Given the description of an element on the screen output the (x, y) to click on. 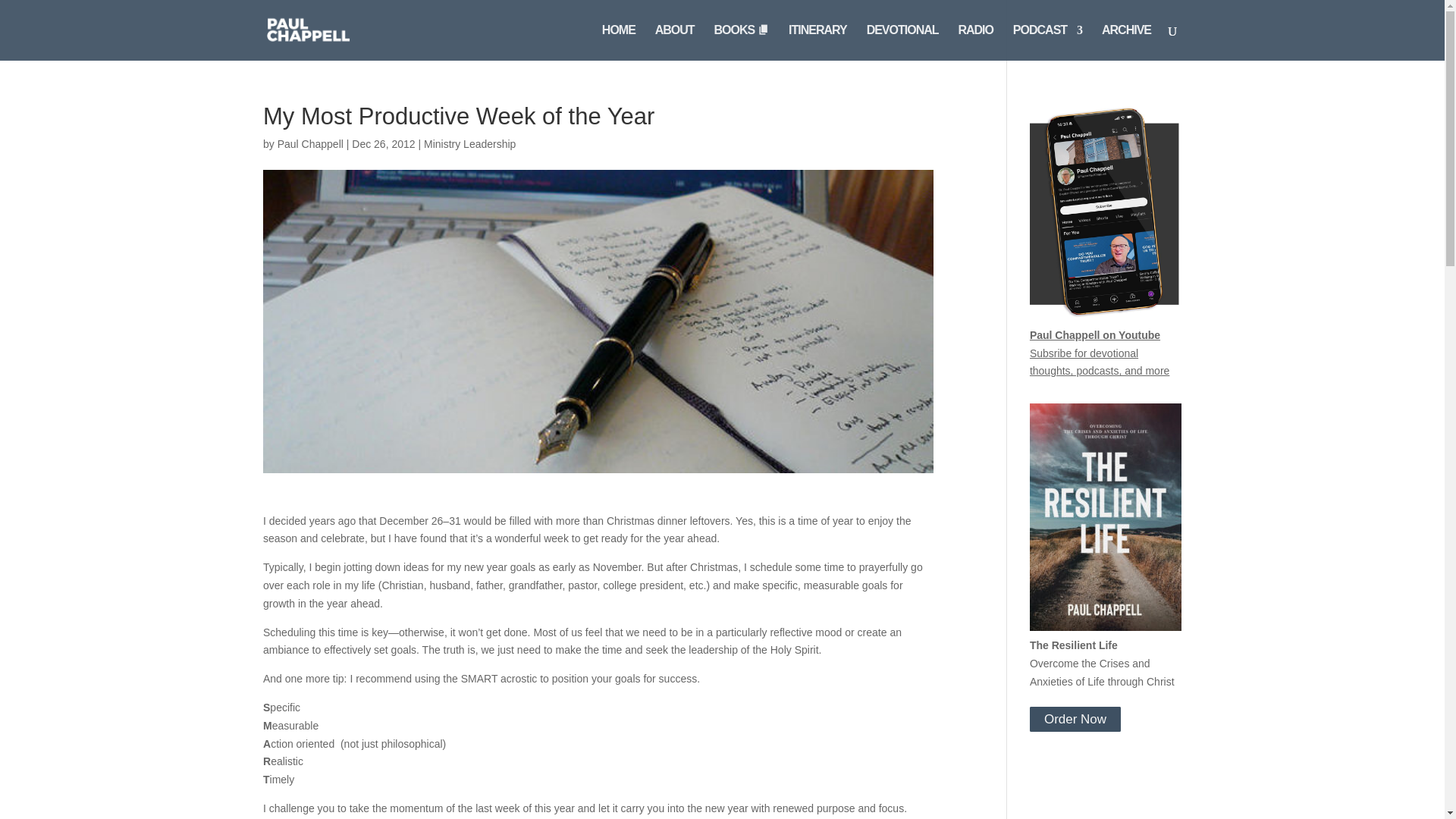
ARCHIVE (1126, 42)
BOOKS (742, 42)
HOME (618, 42)
ITINERARY (818, 42)
ABOUT (674, 42)
Ministry Leadership (469, 143)
Paul Chappell (310, 143)
PODCAST (1047, 42)
Order Now (1075, 719)
Posts by Paul Chappell (310, 143)
DEVOTIONAL (902, 42)
RADIO (975, 42)
